Given the description of an element on the screen output the (x, y) to click on. 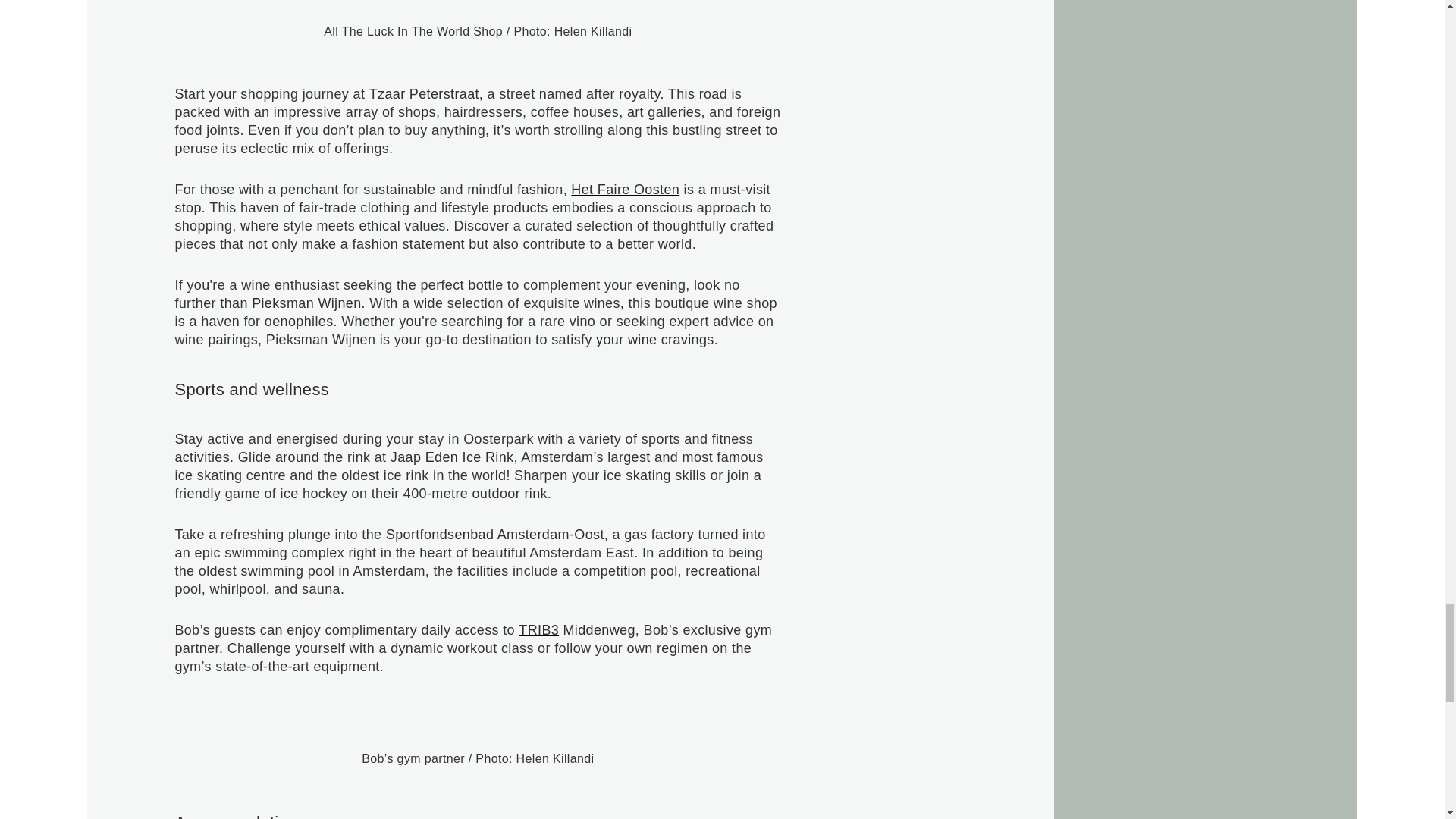
TRIB3 (538, 630)
Pieksman Wijnen (306, 303)
Het Faire Oosten (624, 189)
